Given the description of an element on the screen output the (x, y) to click on. 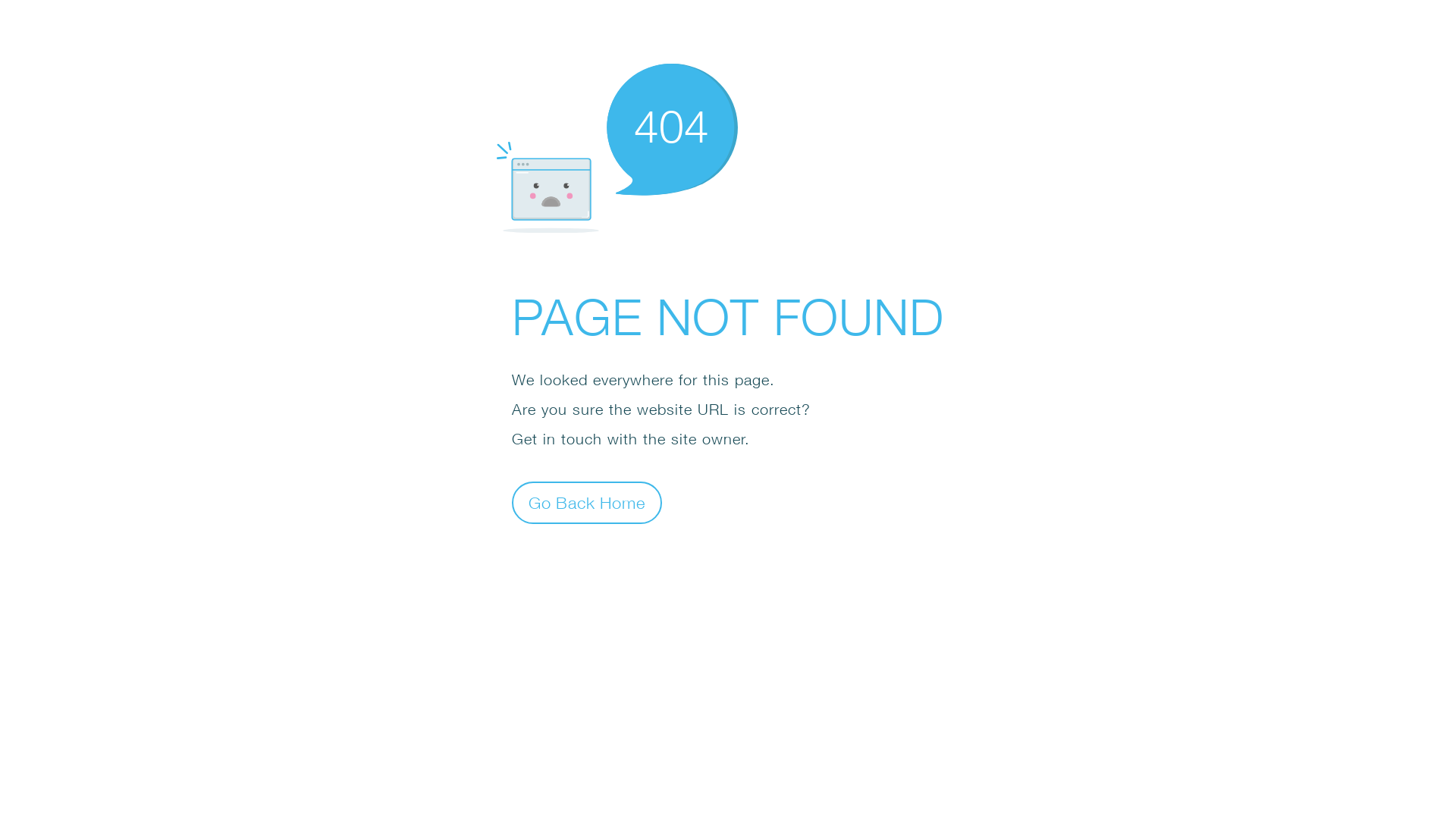
Go Back Home Element type: text (586, 502)
